Given the description of an element on the screen output the (x, y) to click on. 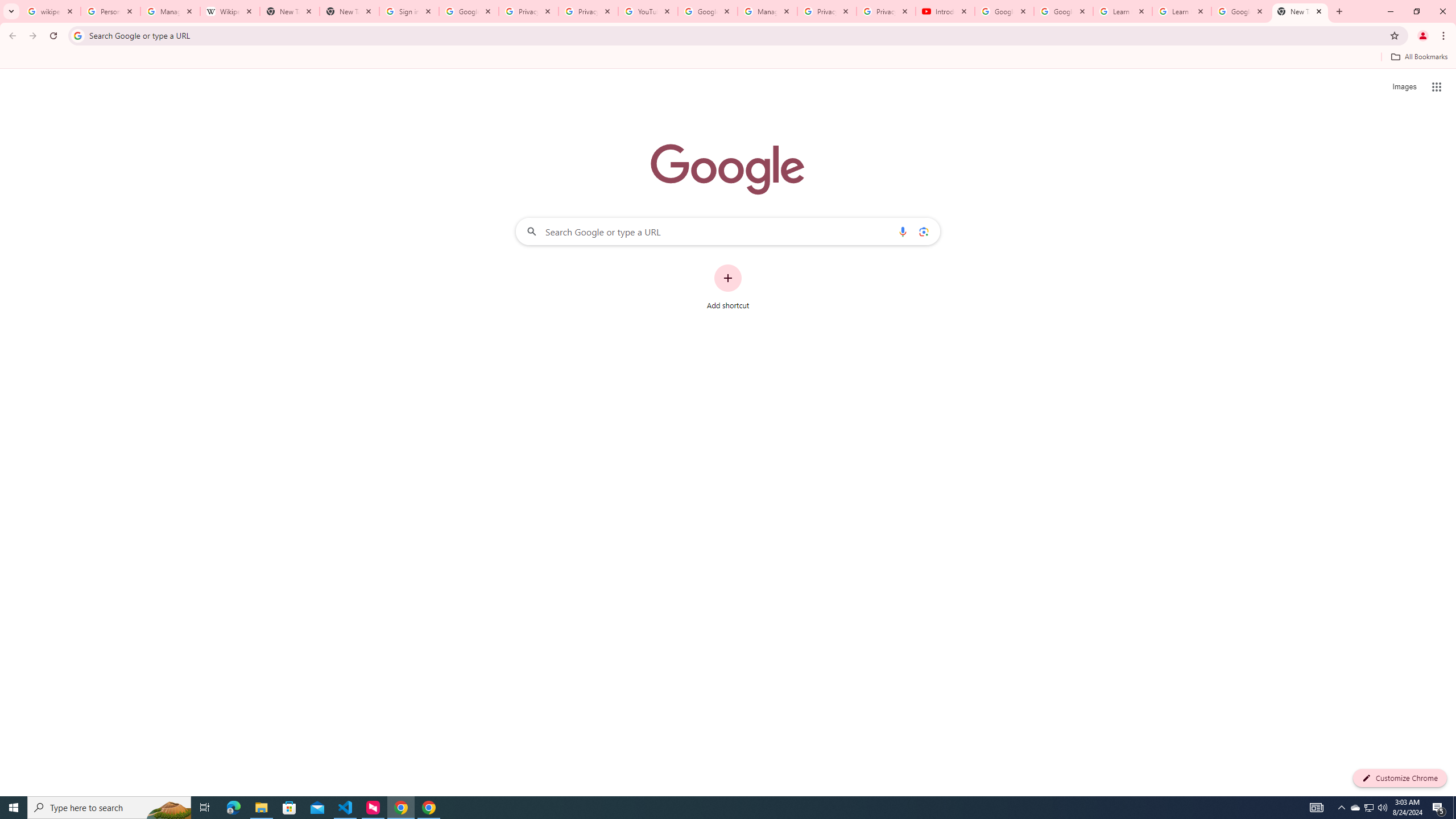
Bookmarks (728, 58)
Reload (52, 35)
Search icon (77, 35)
Search for Images  (1403, 87)
Search tabs (10, 11)
Bookmark this tab (1393, 35)
Address and search bar (735, 35)
Google Account Help (1063, 11)
Forward (32, 35)
Introduction | Google Privacy Policy - YouTube (944, 11)
Sign in - Google Accounts (409, 11)
YouTube (647, 11)
